Given the description of an element on the screen output the (x, y) to click on. 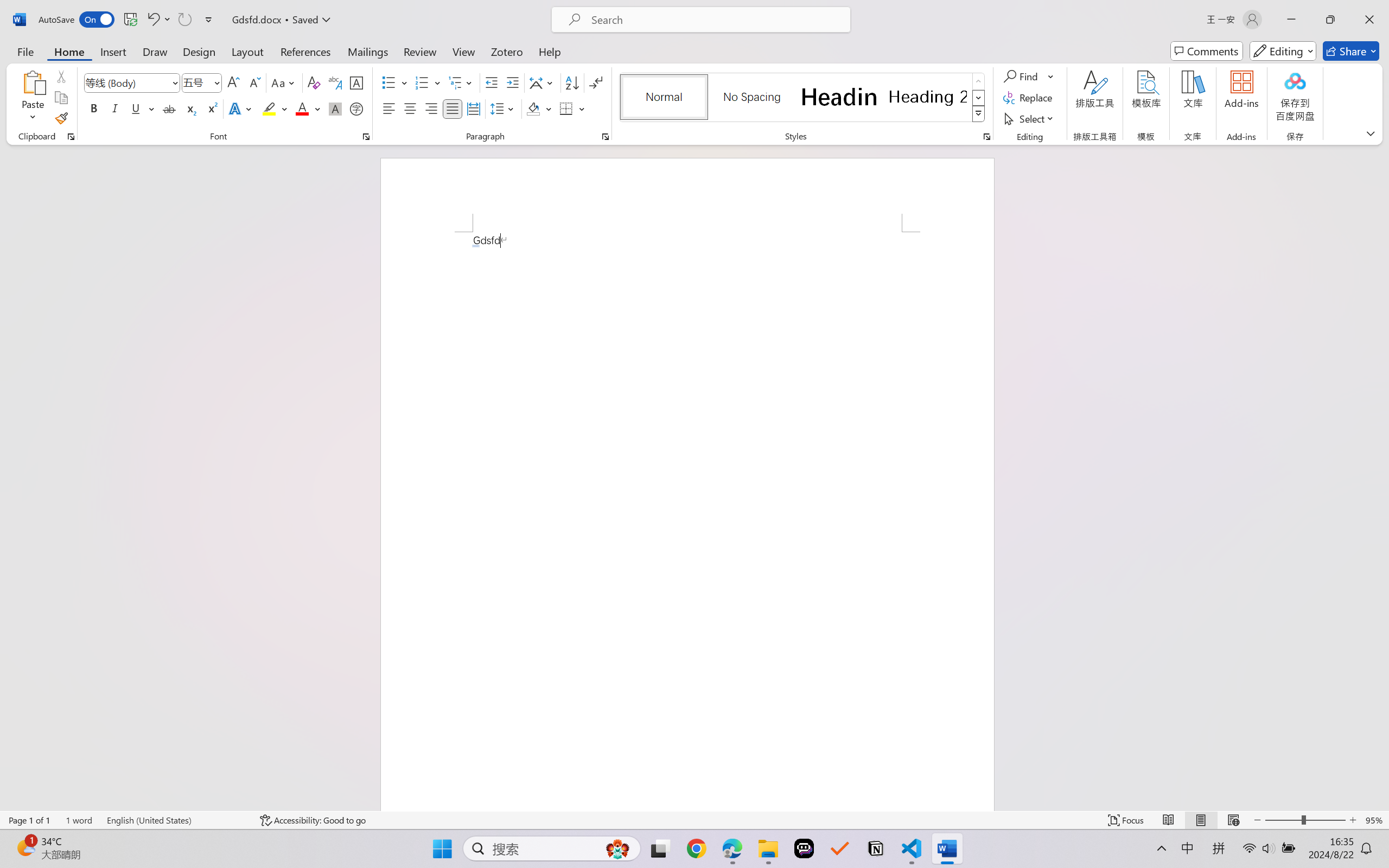
Sort... (571, 82)
Character Border (356, 82)
Align Left (388, 108)
Subscript (190, 108)
Font Color Red (302, 108)
Class: NetUIScrollBar (1382, 477)
Font Color (308, 108)
